Given the description of an element on the screen output the (x, y) to click on. 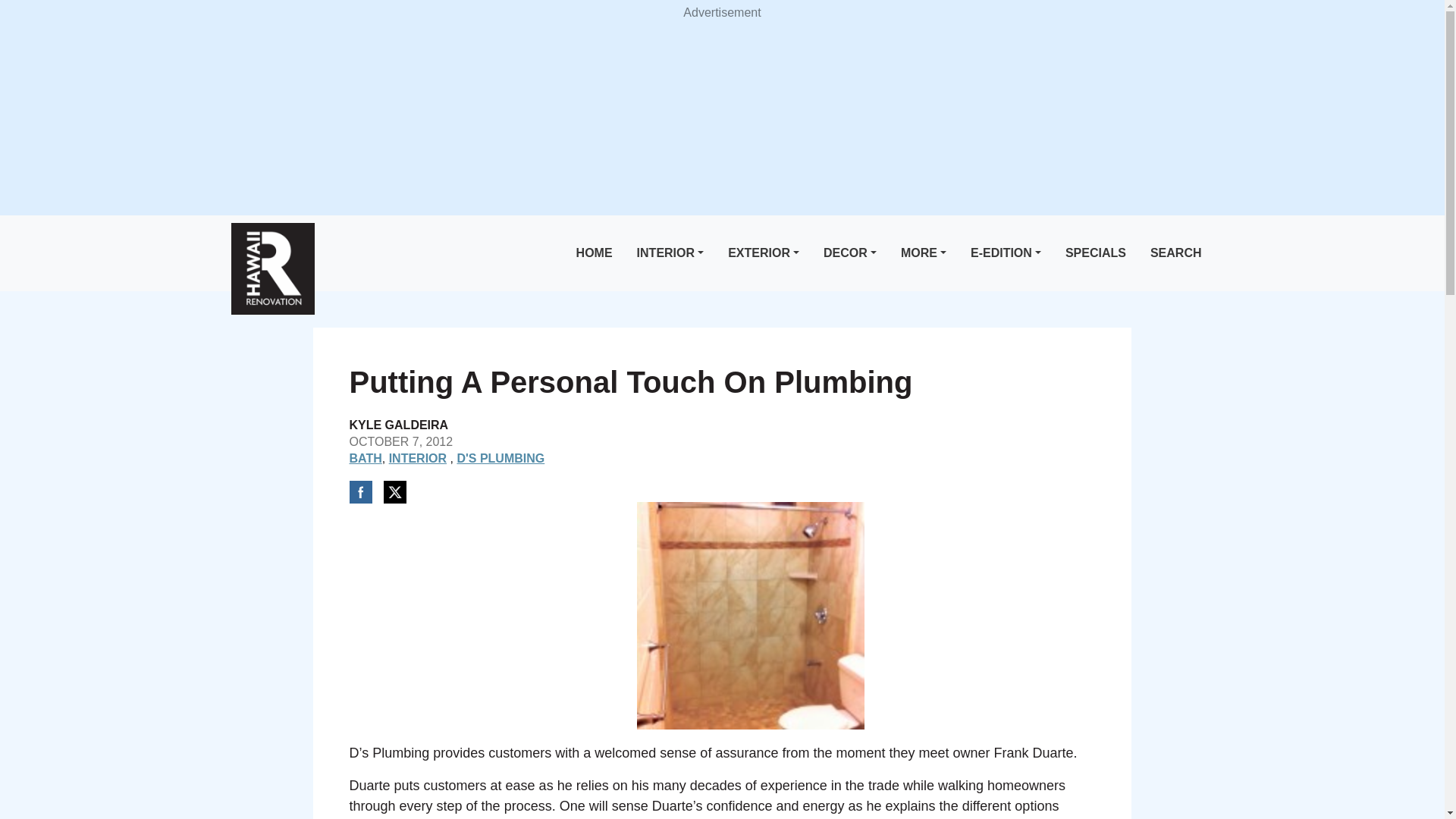
DECOR (849, 253)
INTERIOR (670, 253)
INTERIOR (417, 458)
Twitter (395, 491)
Facebook (360, 491)
HOME (594, 253)
EXTERIOR (763, 253)
E-EDITION (1004, 253)
BATH (365, 458)
SPECIALS (1095, 253)
D'S PLUMBING (500, 458)
SEARCH (1176, 253)
MORE (923, 253)
Hawaii Renovation (272, 268)
